Given the description of an element on the screen output the (x, y) to click on. 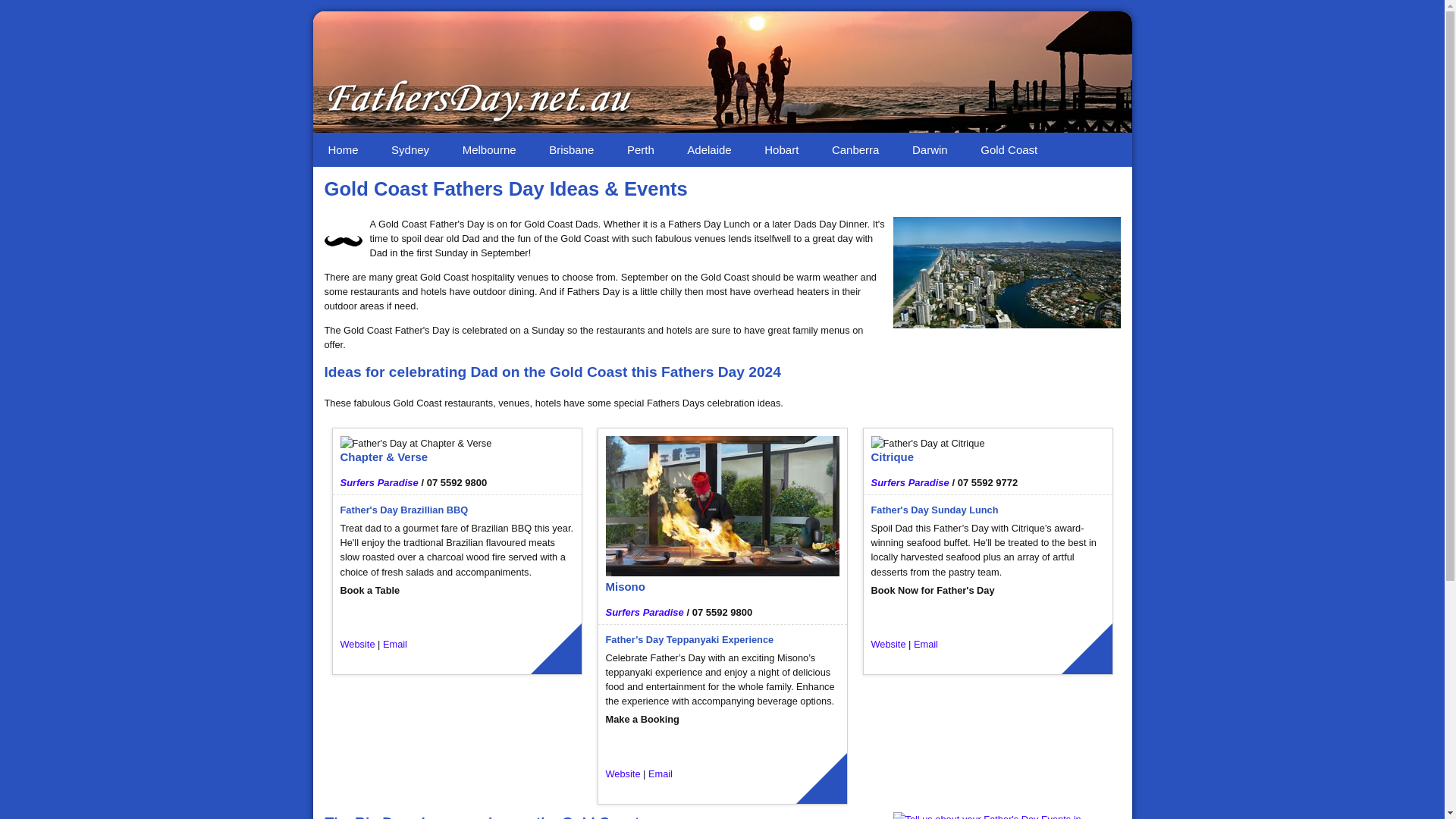
Sydney Element type: text (410, 149)
Website Element type: text (887, 643)
Home Element type: text (342, 149)
Surfers Paradise Element type: text (644, 612)
Surfers Paradise Element type: text (909, 482)
Perth Element type: text (640, 149)
Canberra Element type: text (855, 149)
Hobart Element type: text (781, 149)
Melbourne Element type: text (489, 149)
Surfers Paradise Element type: text (378, 482)
Website Element type: text (622, 773)
Email Element type: text (660, 773)
Website Element type: text (356, 643)
Adelaide Element type: text (708, 149)
Email Element type: text (394, 643)
Darwin Element type: text (930, 149)
Gold Coast Element type: text (1008, 149)
Email Element type: text (925, 643)
Brisbane Element type: text (570, 149)
Skip to content Element type: text (546, 139)
